Given the description of an element on the screen output the (x, y) to click on. 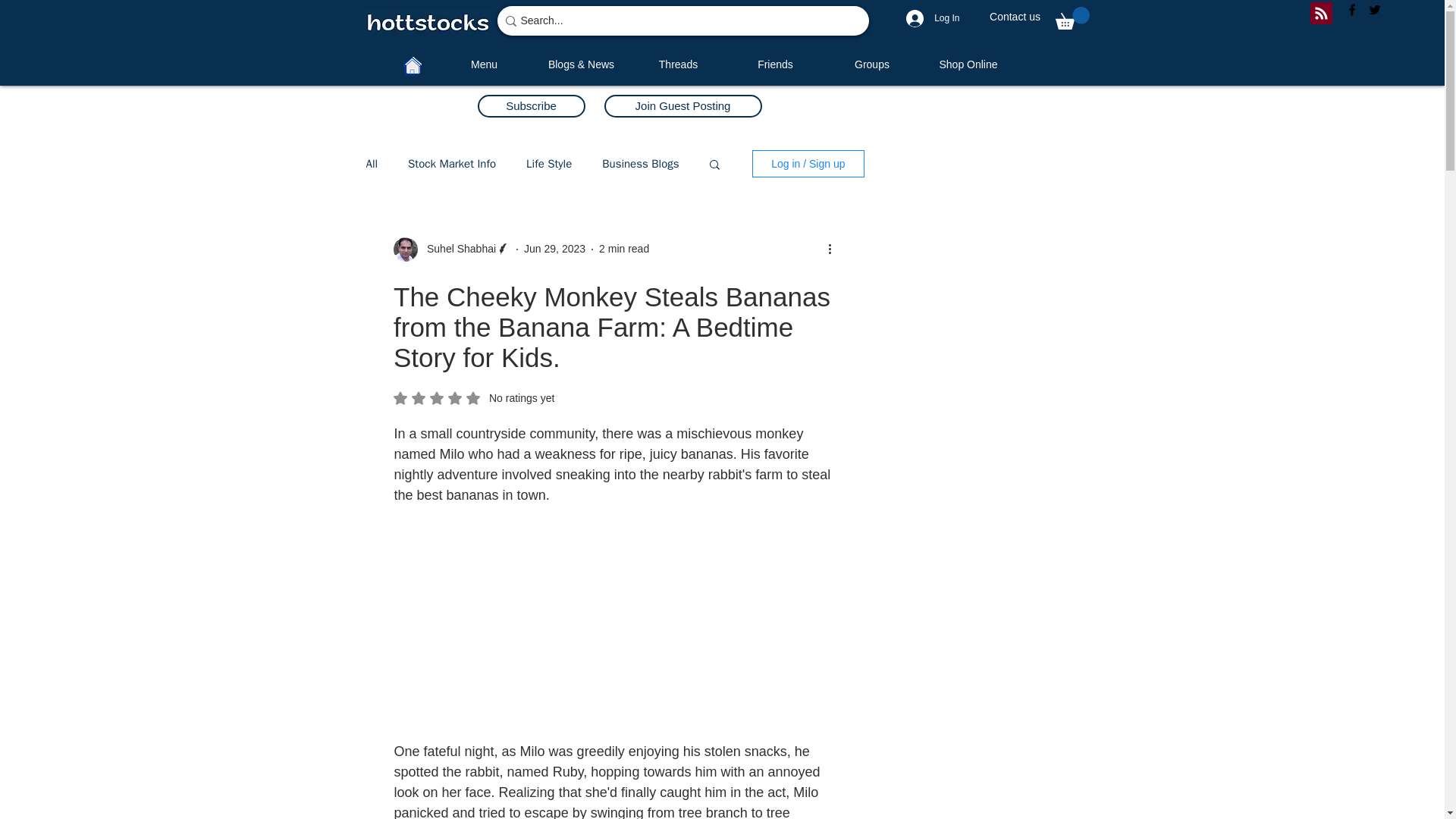
Contact us (1015, 16)
Suhel Shabhai (456, 248)
Jun 29, 2023 (554, 248)
Stock Market Info (451, 164)
Subscribe (531, 106)
Menu (483, 64)
Threads (677, 64)
Log In (932, 17)
Friends (775, 64)
Join Guest Posting (682, 106)
